Given the description of an element on the screen output the (x, y) to click on. 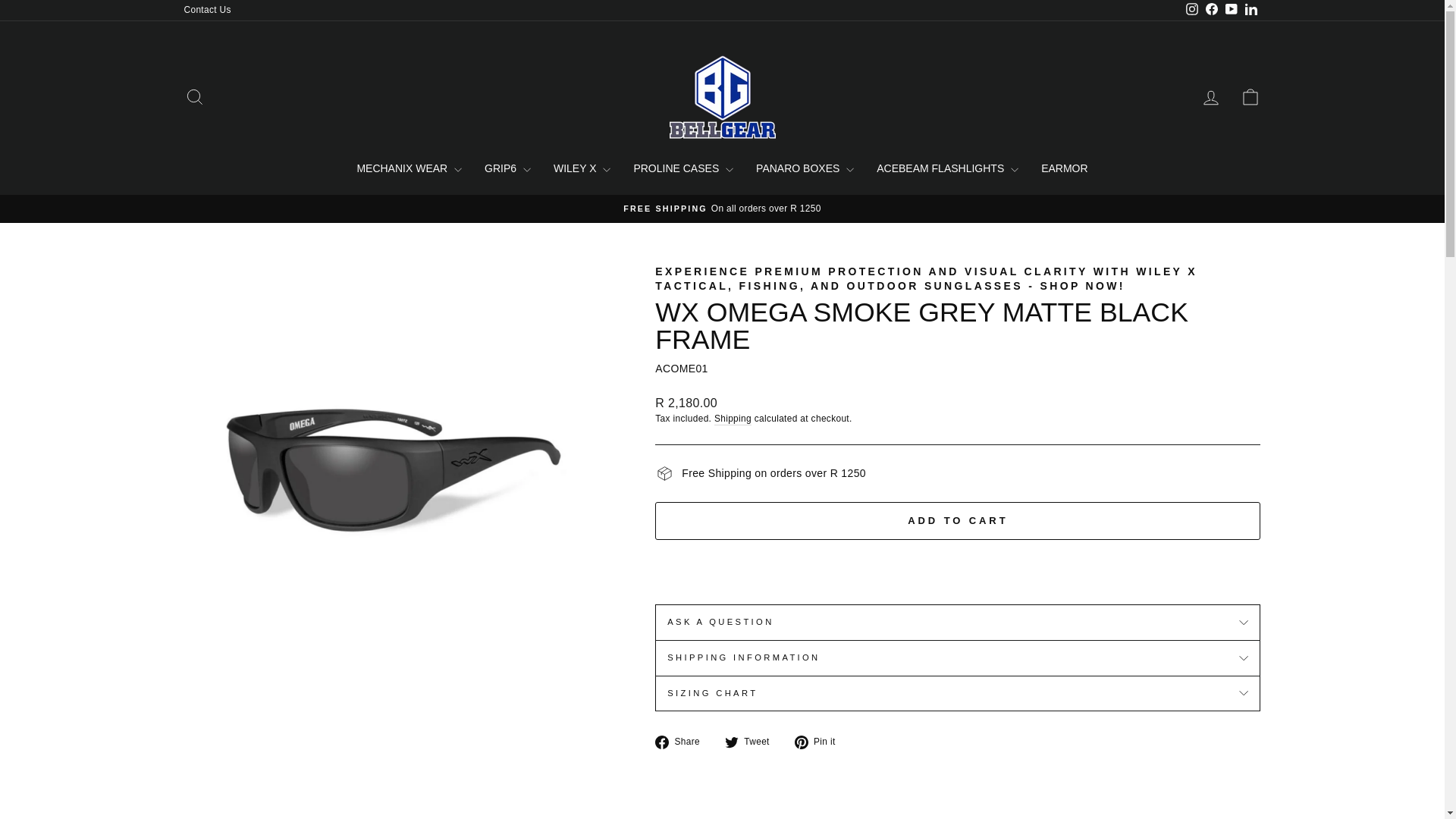
Pin on Pinterest (820, 741)
Share on Facebook (683, 741)
twitter (731, 742)
instagram (1192, 9)
ICON-SEARCH (194, 96)
Tweet on Twitter (752, 741)
ACCOUNT (1210, 97)
ICON-BAG-MINIMAL (1249, 96)
